Given the description of an element on the screen output the (x, y) to click on. 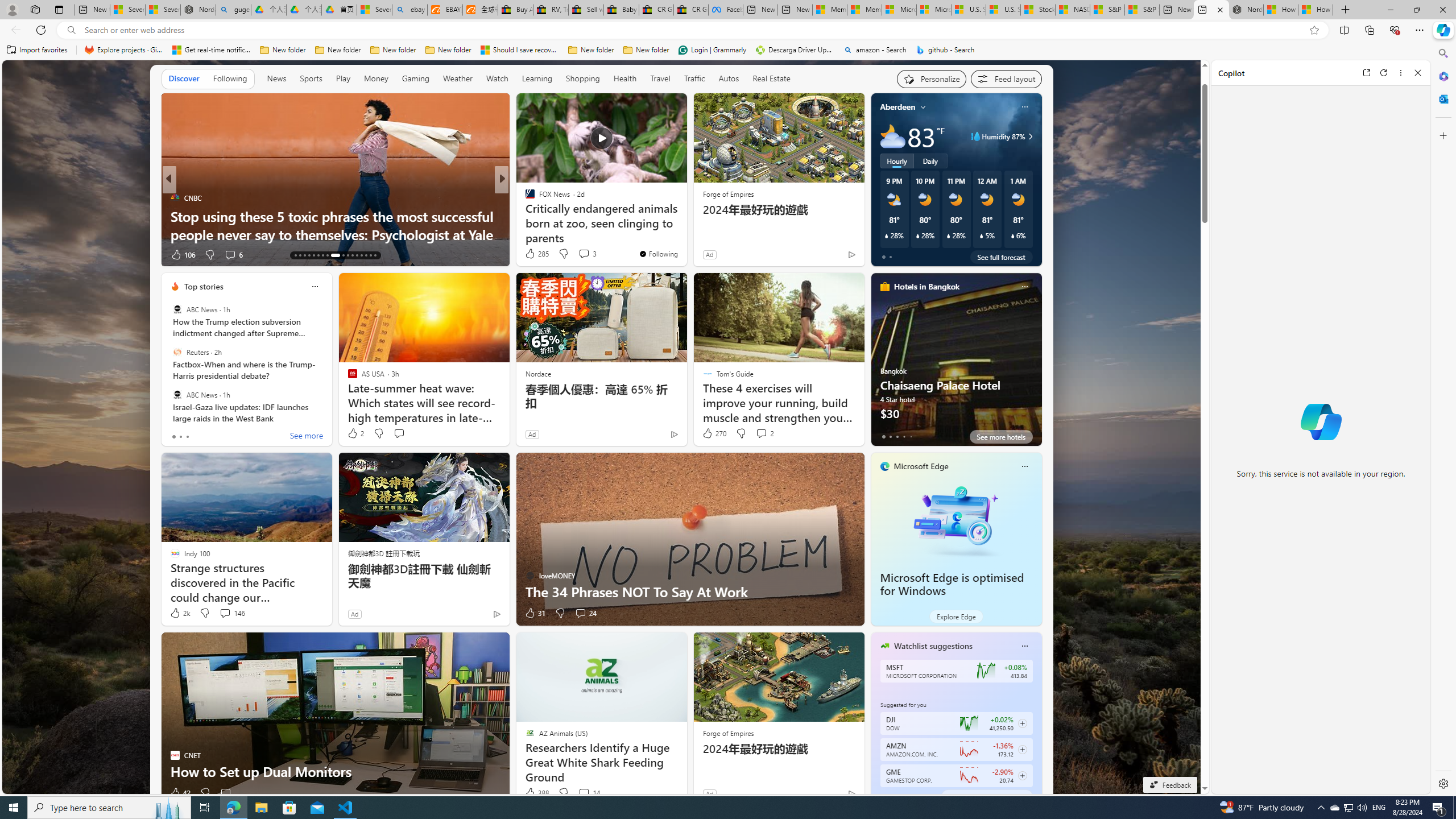
Explore Edge (955, 616)
1k Like (530, 254)
View comments 1 Comment (572, 254)
Real Estate (771, 78)
Autos (728, 79)
View comments 146 Comment (224, 613)
